Given the description of an element on the screen output the (x, y) to click on. 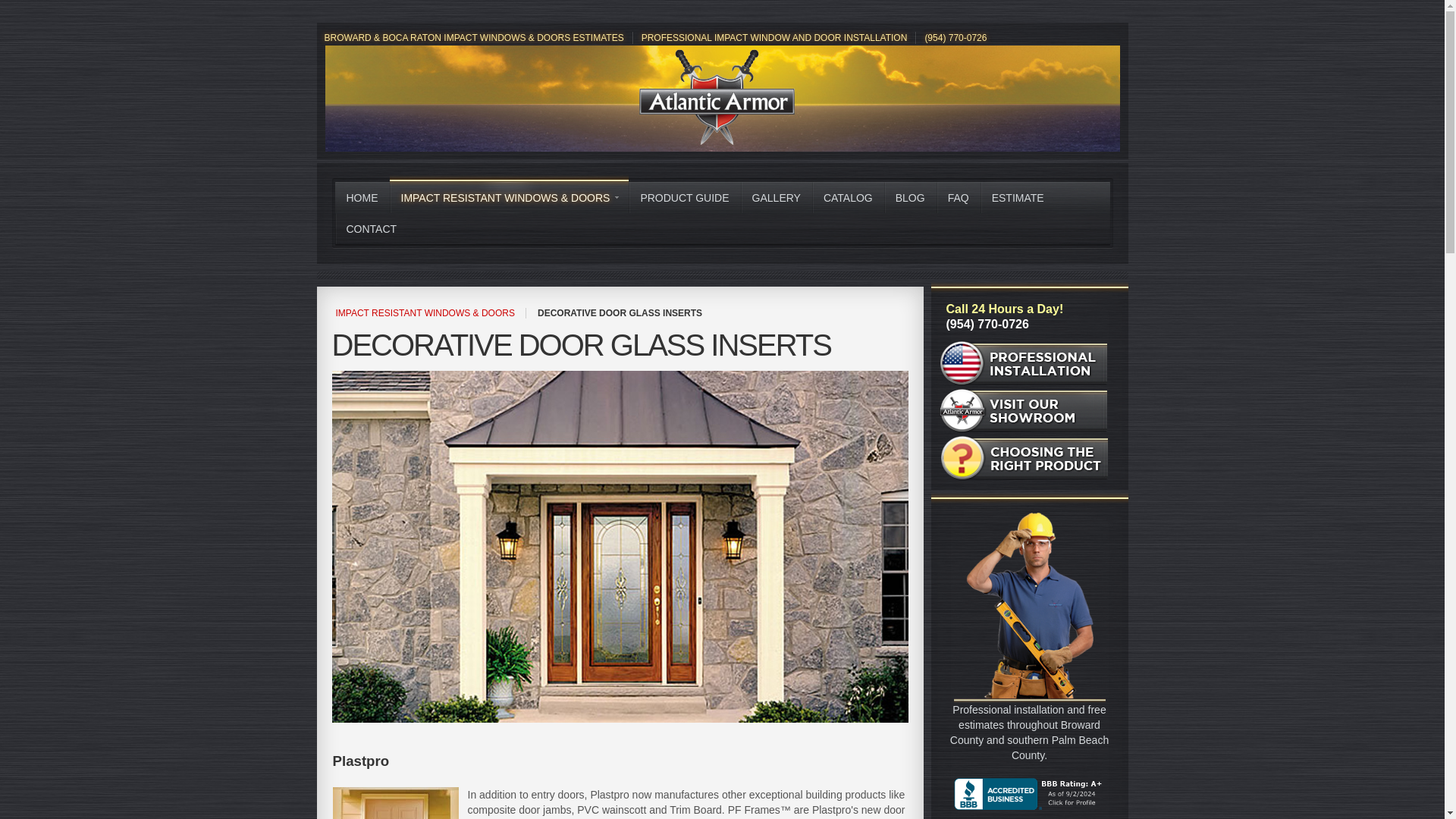
PROFESSIONAL IMPACT WINDOW AND DOOR INSTALLATION (774, 37)
ESTIMATE (1017, 196)
CONTACT (371, 228)
PRODUCT GUIDE (683, 196)
HOME (362, 196)
FAQ (957, 196)
GALLERY (776, 196)
BLOG (909, 196)
CATALOG (847, 196)
